Given the description of an element on the screen output the (x, y) to click on. 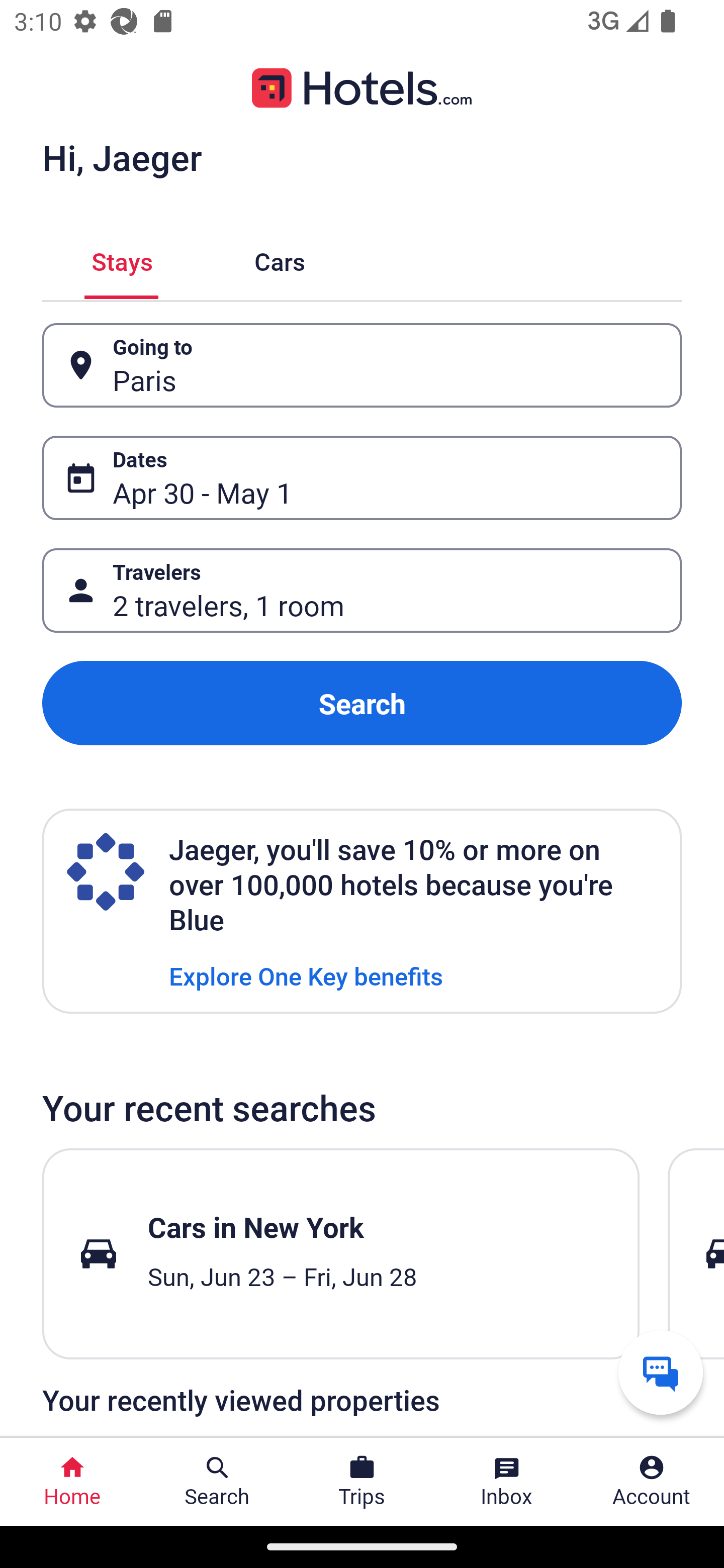
Hi, Jaeger (121, 156)
Cars (279, 259)
Going to Button Paris (361, 365)
Dates Button Apr 30 - May 1 (361, 477)
Travelers Button 2 travelers, 1 room (361, 590)
Search (361, 702)
Get help from a virtual agent (660, 1371)
Search Search Button (216, 1481)
Trips Trips Button (361, 1481)
Inbox Inbox Button (506, 1481)
Account Profile. Button (651, 1481)
